Given the description of an element on the screen output the (x, y) to click on. 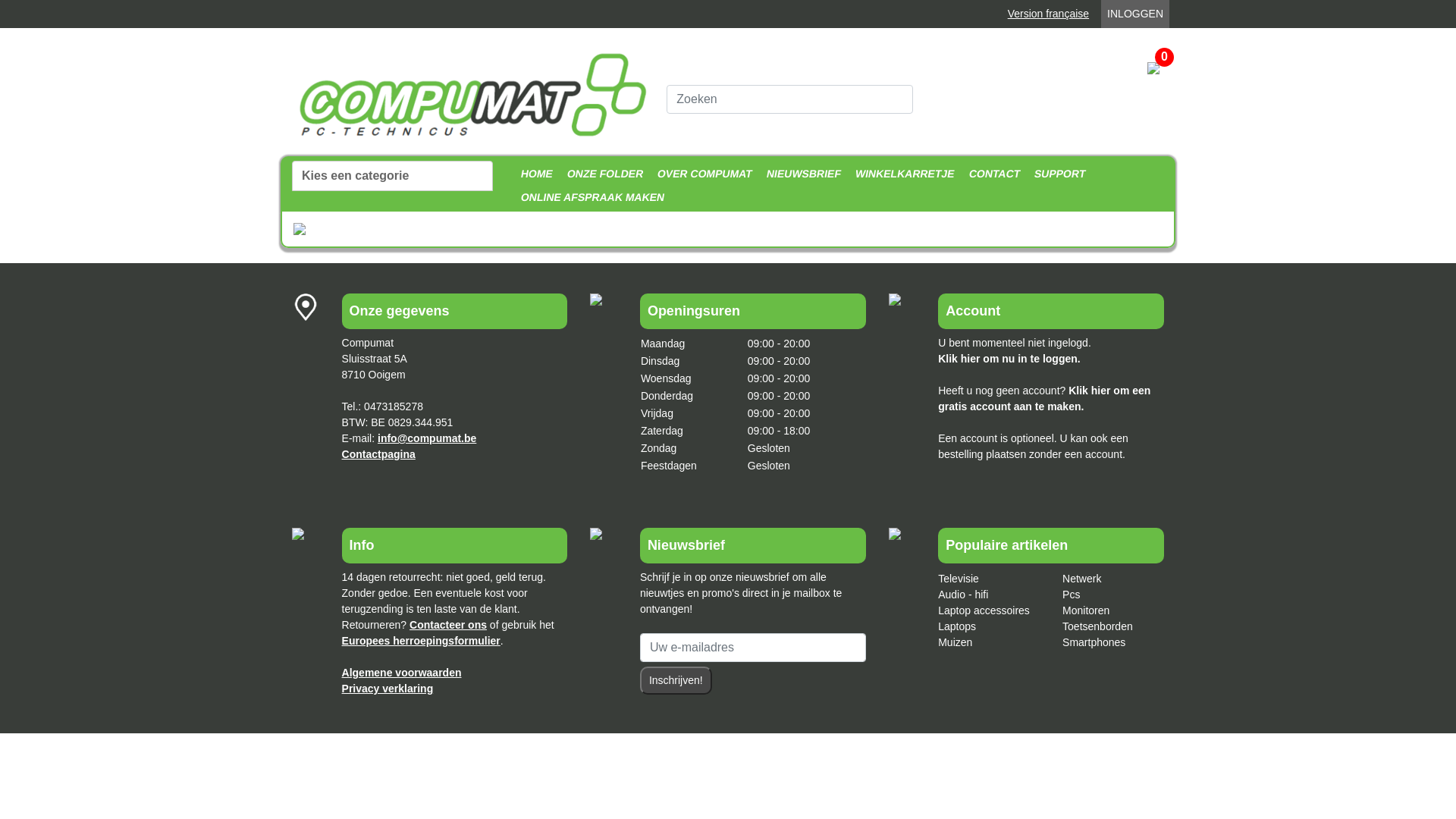
Audio - hifi Element type: text (963, 594)
Pcs Element type: text (1070, 594)
Toetsenborden Element type: text (1097, 626)
Televisie Element type: text (958, 578)
info@compumat.be Element type: text (426, 438)
WINKELKARRETJE Element type: text (903, 173)
Klik hier om nu in te loggen. Element type: text (1008, 358)
CONTACT Element type: text (991, 173)
ONLINE AFSPRAAK MAKEN Element type: text (590, 197)
Klik hier om een gratis account aan te maken. Element type: text (1044, 398)
Netwerk Element type: text (1081, 578)
Contactpagina Element type: text (378, 454)
Contacteer ons Element type: text (447, 624)
Inschrijven! Element type: text (676, 680)
SUPPORT Element type: text (1058, 173)
OVER COMPUMAT Element type: text (703, 173)
HOME Element type: text (534, 173)
Privacy verklaring Element type: text (387, 688)
Europees herroepingsformulier Element type: text (421, 640)
Smartphones Element type: text (1093, 642)
Laptops Element type: text (956, 626)
NIEUWSBRIEF Element type: text (801, 173)
ONZE FOLDER Element type: text (602, 173)
Algemene voorwaarden Element type: text (401, 672)
Monitoren Element type: text (1085, 610)
Muizen Element type: text (955, 642)
Laptop accessoires Element type: text (983, 610)
Kies een categorie Element type: text (391, 175)
